Given the description of an element on the screen output the (x, y) to click on. 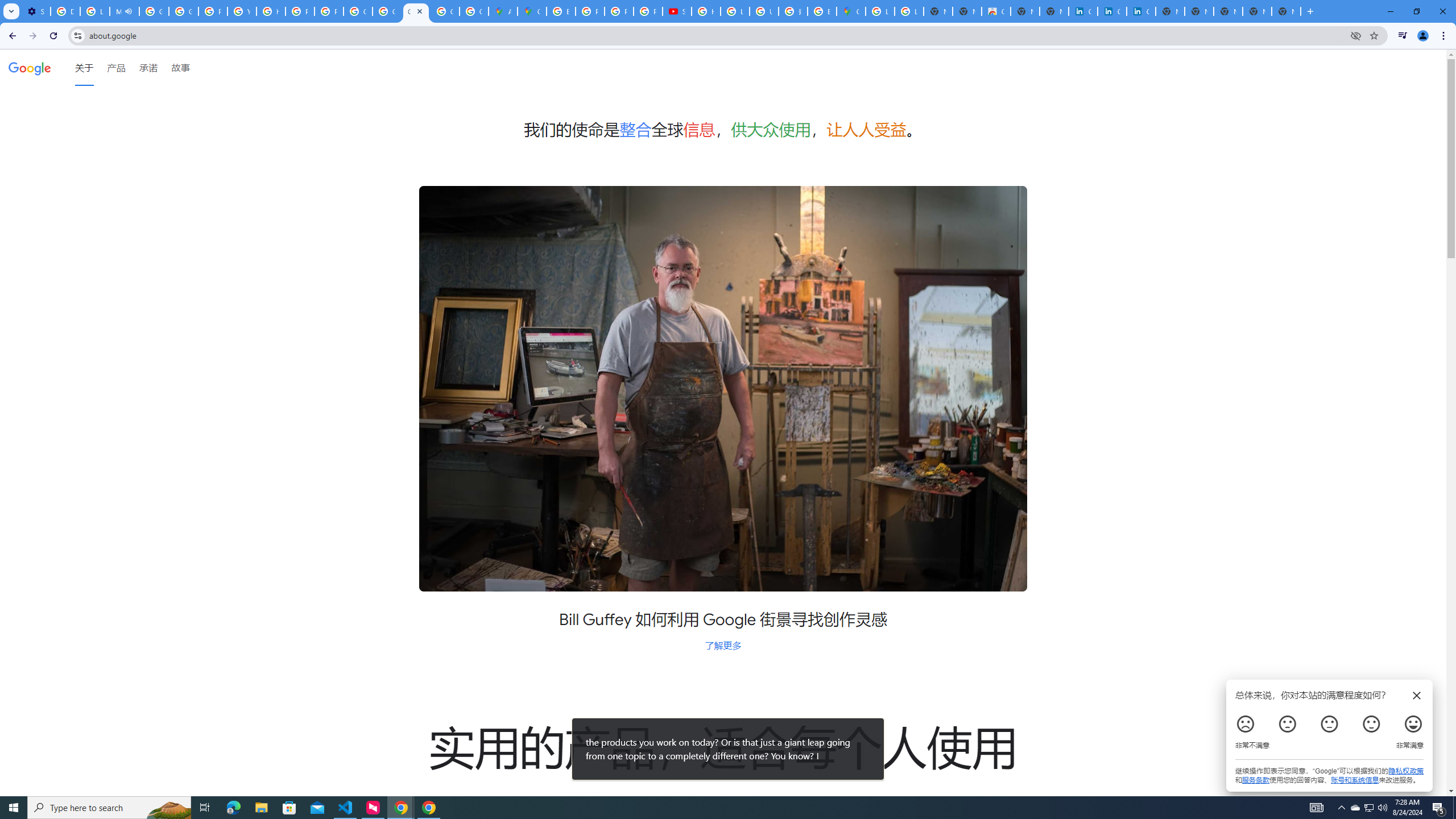
Cookie Policy | LinkedIn (1082, 11)
Privacy Help Center - Policies Help (212, 11)
